Given the description of an element on the screen output the (x, y) to click on. 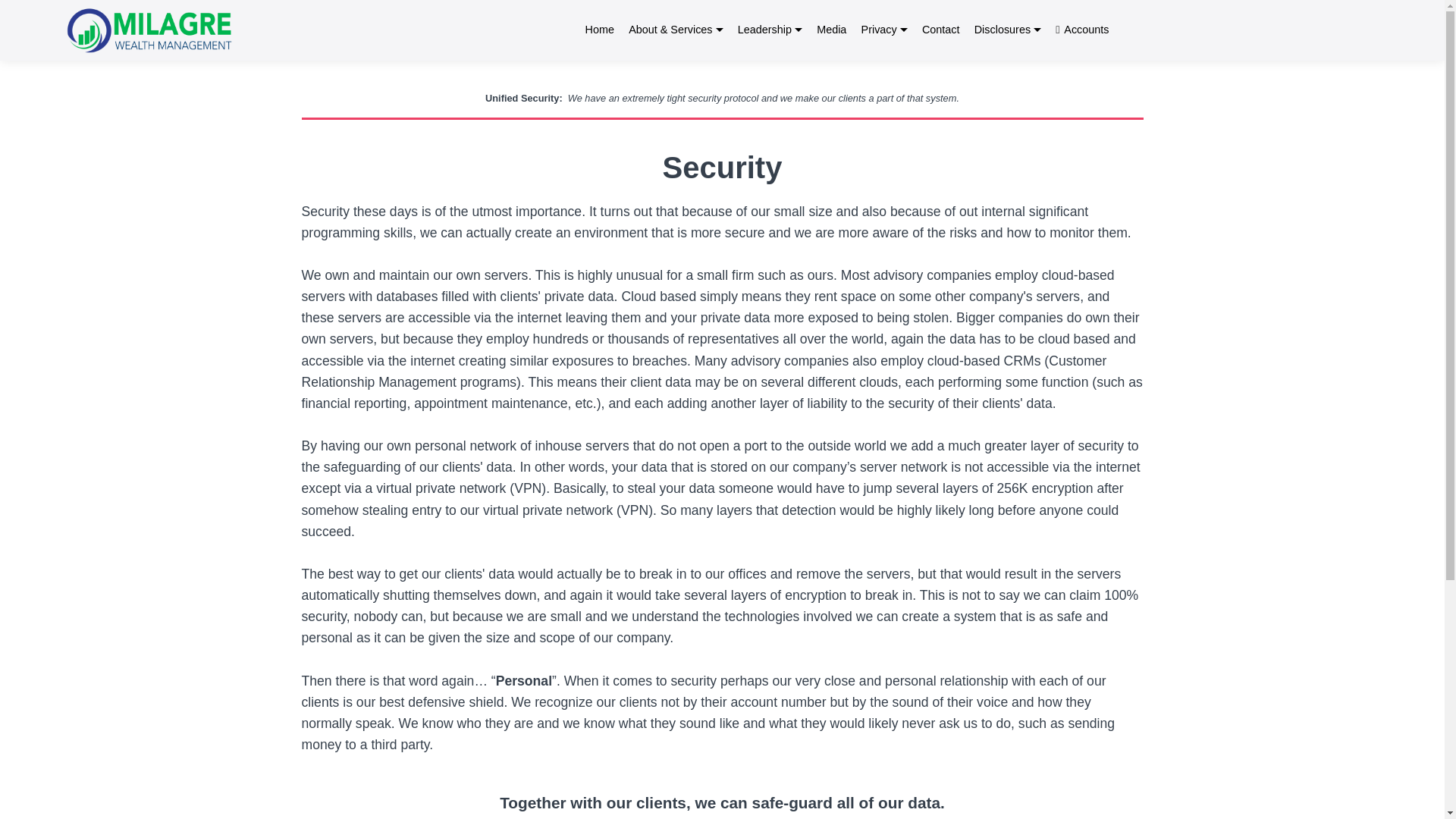
Accounts (1081, 29)
Contact (940, 29)
Disclosures (1007, 29)
Privacy (884, 29)
Leadership (770, 29)
